Given the description of an element on the screen output the (x, y) to click on. 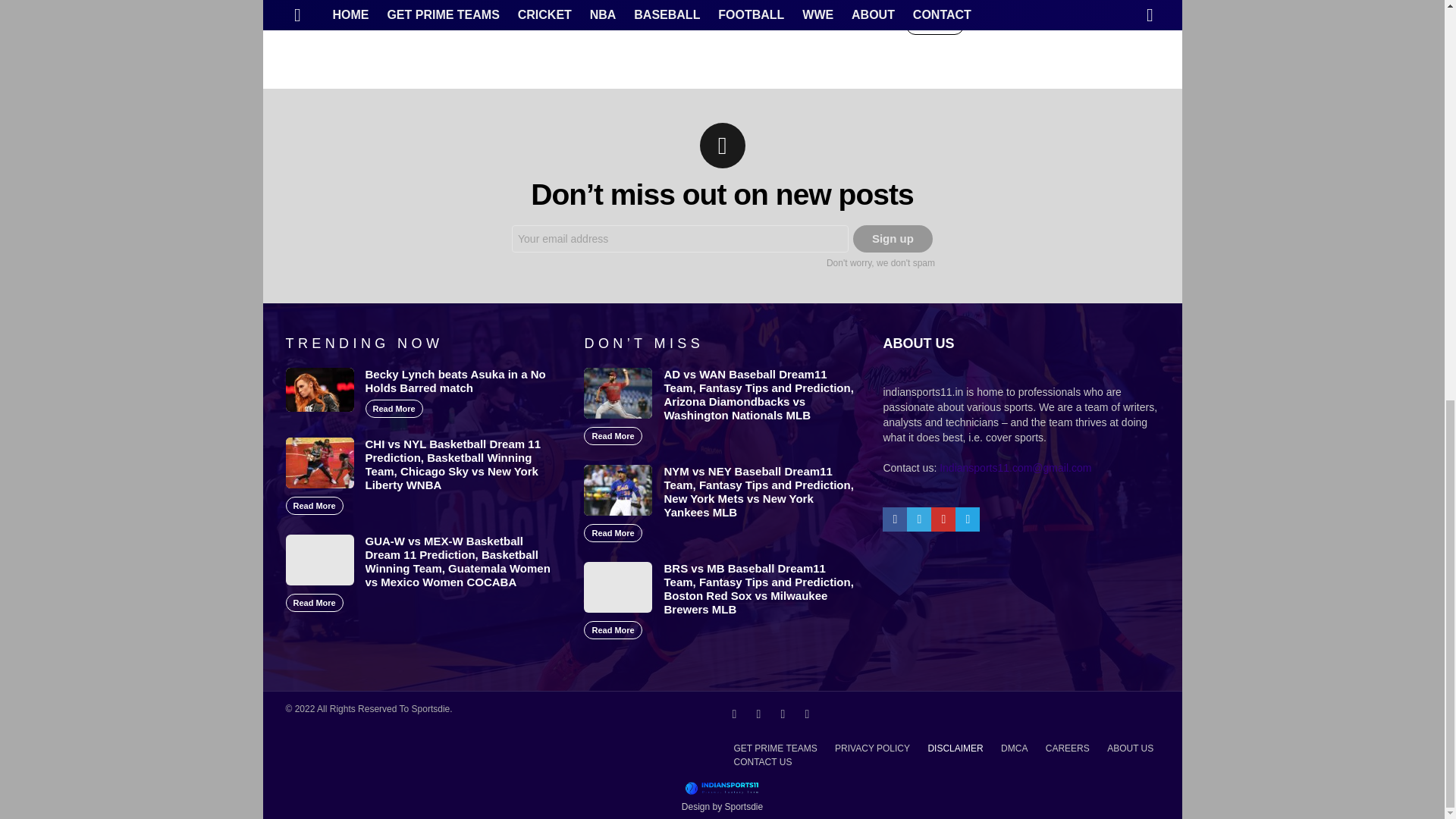
Sign up (893, 238)
Becky Lynch beats Asuka in a No Holds Barred match (319, 389)
